Given the description of an element on the screen output the (x, y) to click on. 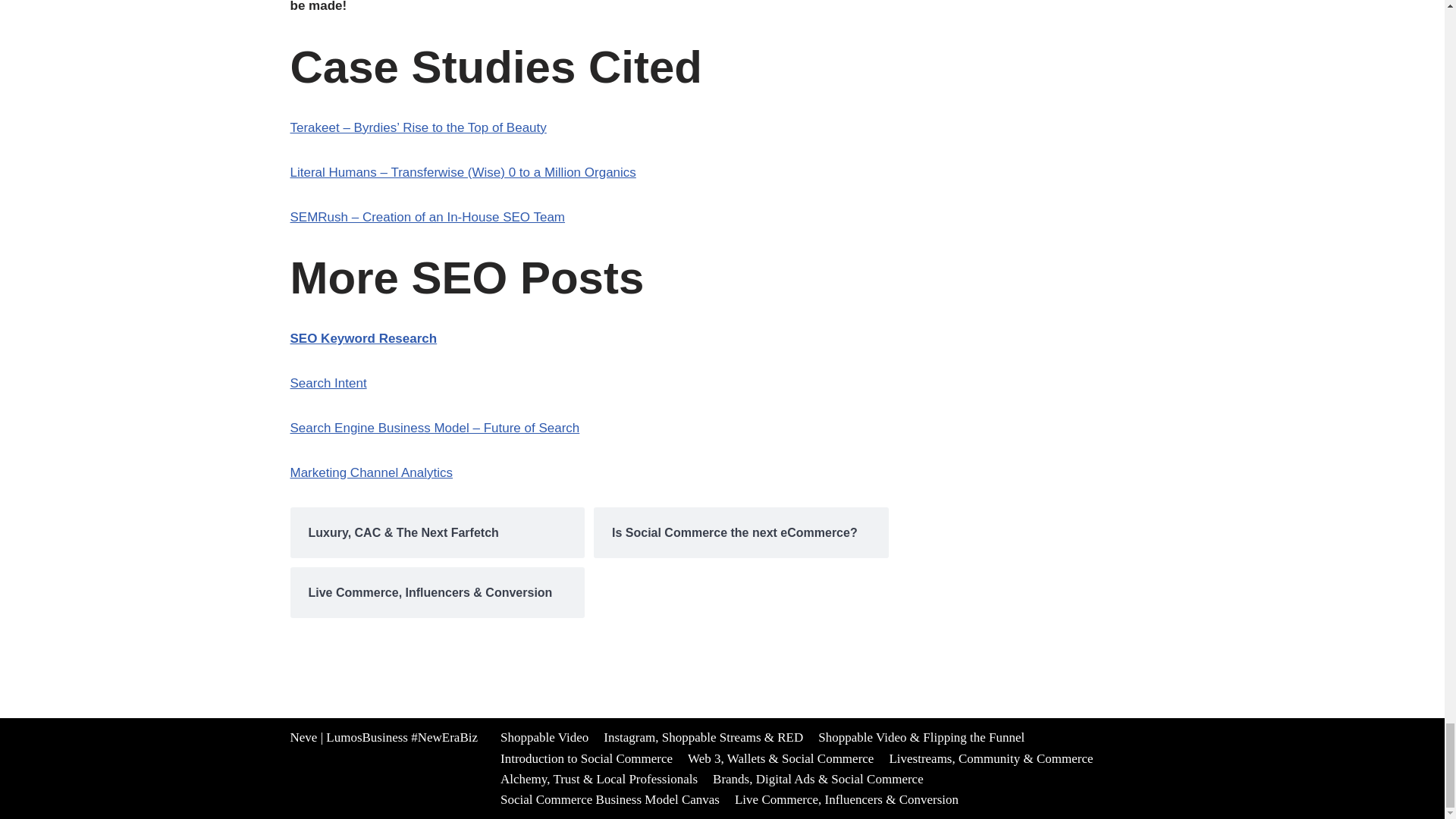
Search Engine Business Model (434, 427)
SEO Keyword Research (362, 338)
